Given the description of an element on the screen output the (x, y) to click on. 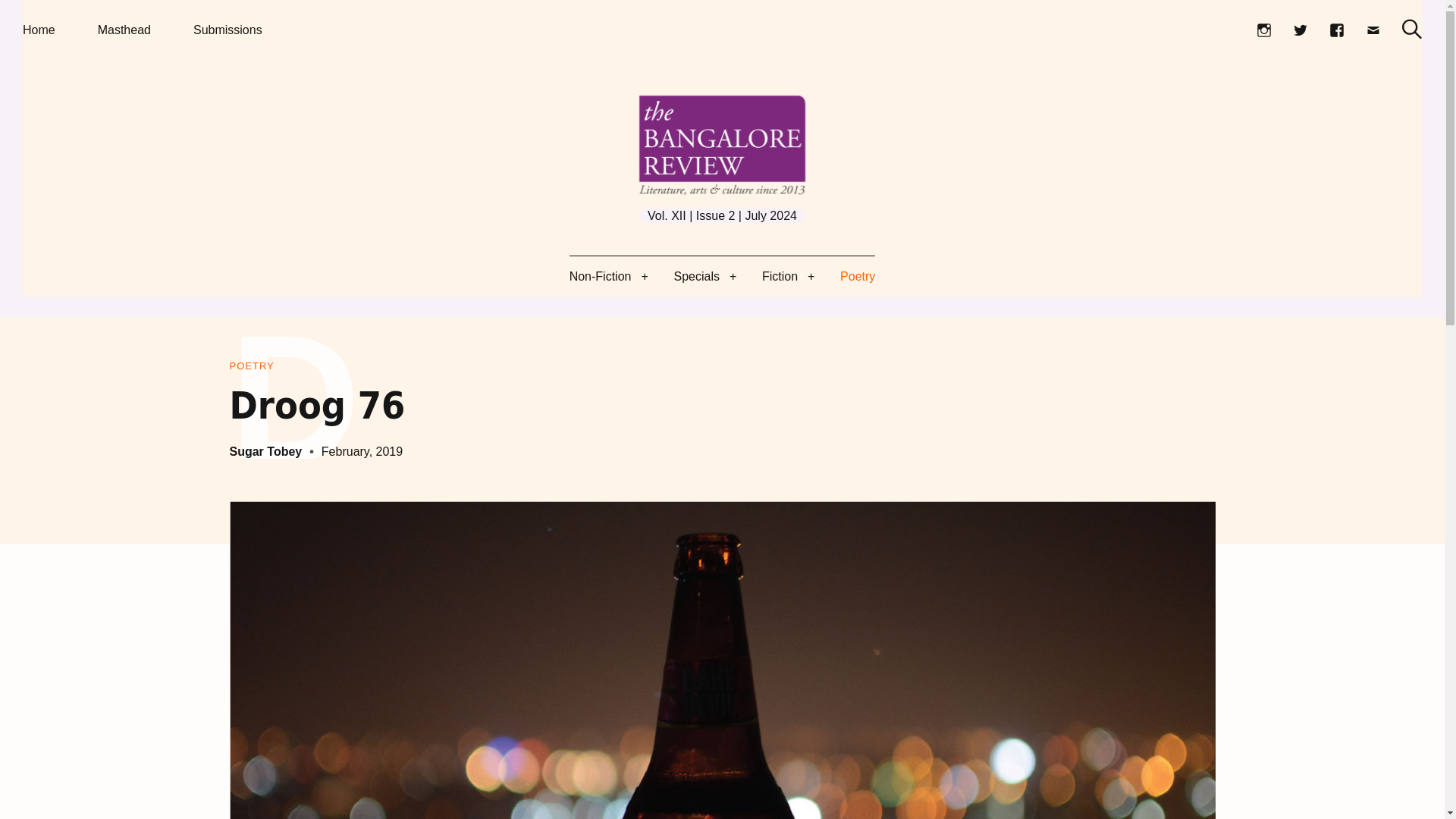
Submissions (227, 29)
Email (1372, 29)
POETRY (250, 366)
Search (1412, 28)
Home (39, 29)
February, 2019 (362, 451)
Poetry (250, 366)
Instagram (1263, 29)
Non-Fiction (600, 276)
Masthead (124, 29)
